Given the description of an element on the screen output the (x, y) to click on. 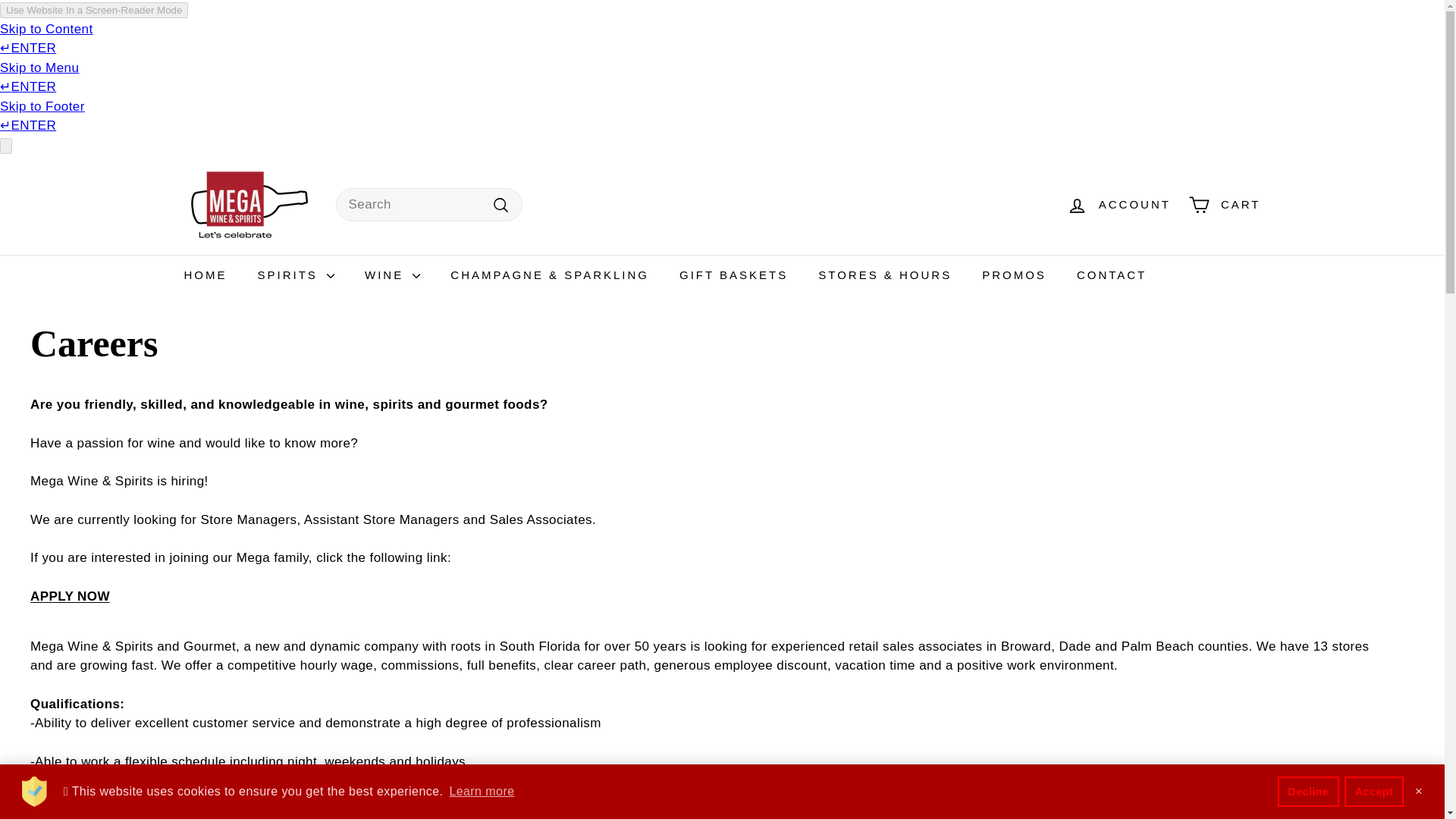
ACCOUNT (1118, 203)
GIFT BASKETS (733, 275)
CART (1224, 203)
HOME (204, 275)
Accept (1373, 791)
Learn more (481, 791)
Decline (1308, 791)
